Given the description of an element on the screen output the (x, y) to click on. 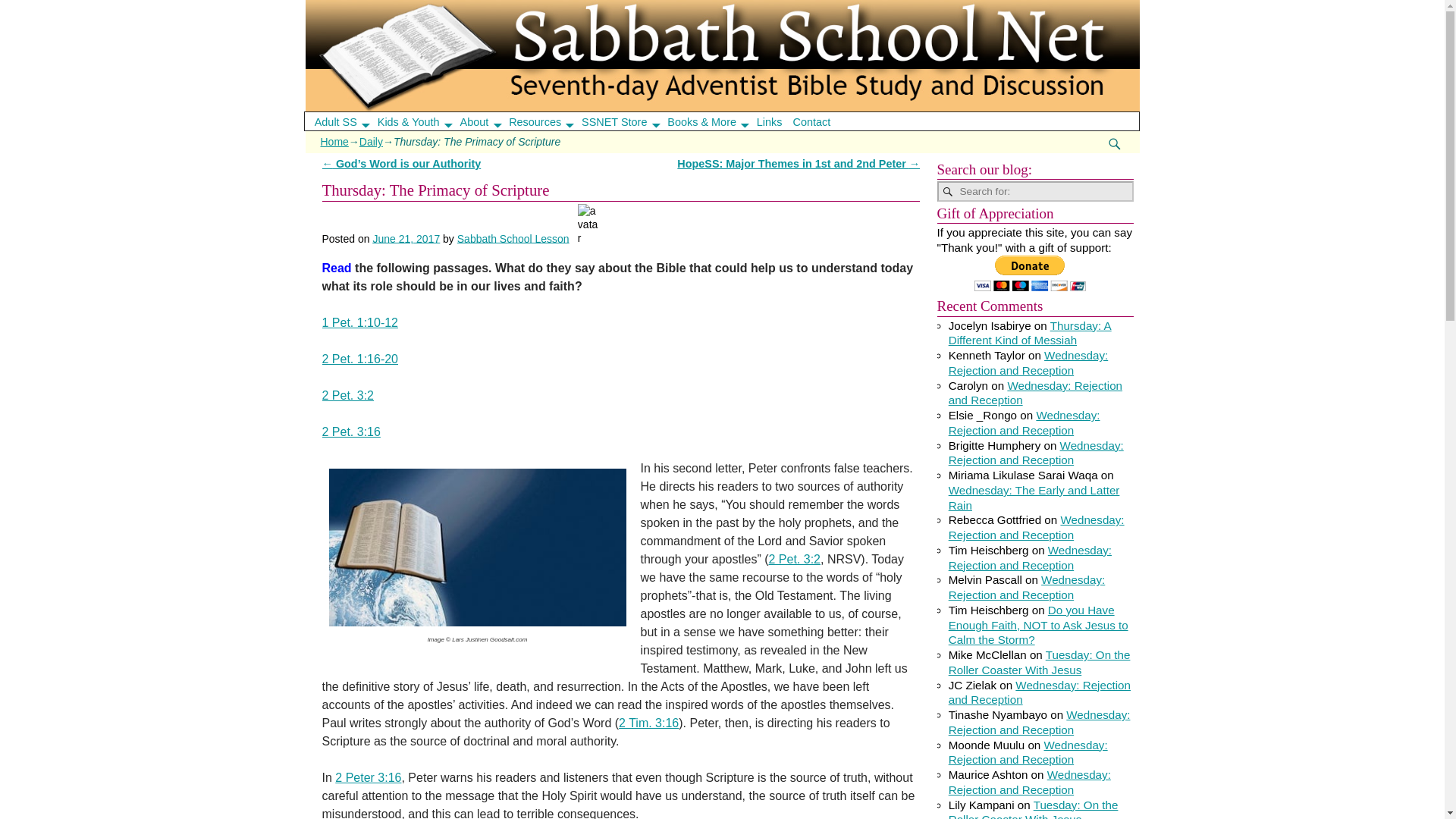
View all posts by Sabbath School Lesson (513, 237)
About (485, 121)
7:01 am (405, 237)
Adult SS (346, 121)
Resources (545, 121)
